Given the description of an element on the screen output the (x, y) to click on. 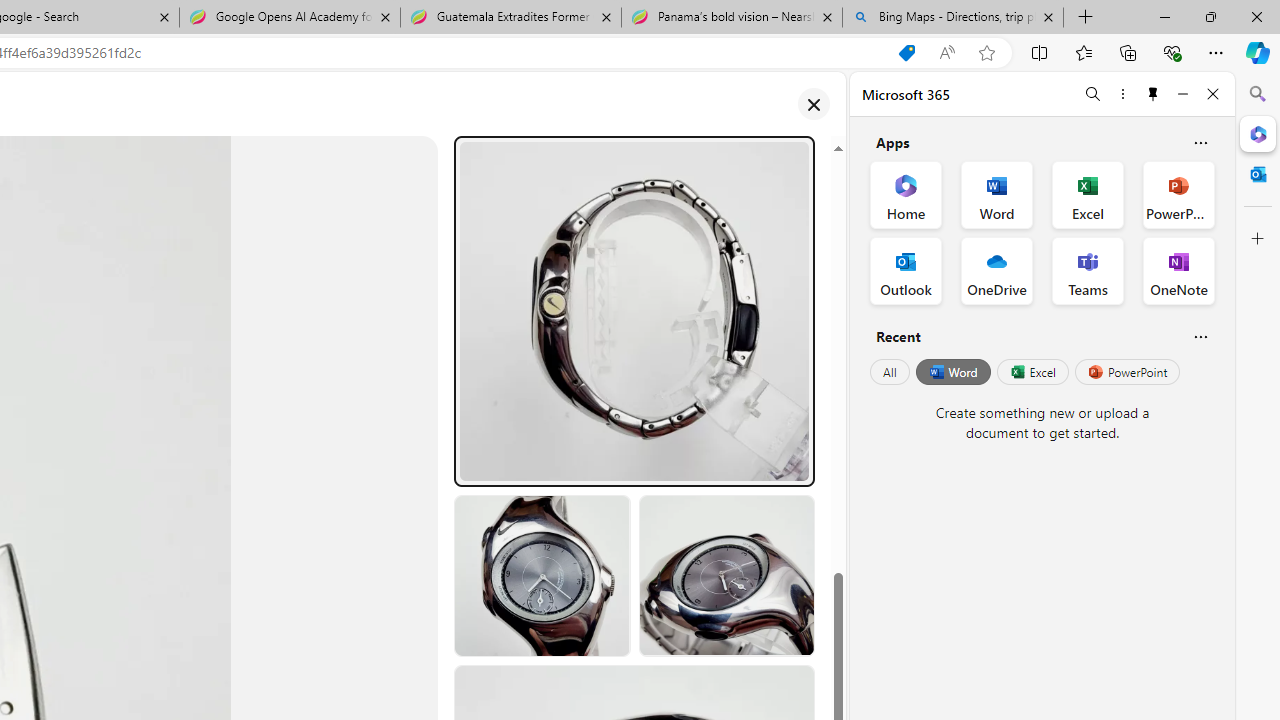
PowerPoint Office App (1178, 194)
OneDrive Office App (996, 270)
Excel Office App (1087, 194)
Teams Office App (1087, 270)
